Given the description of an element on the screen output the (x, y) to click on. 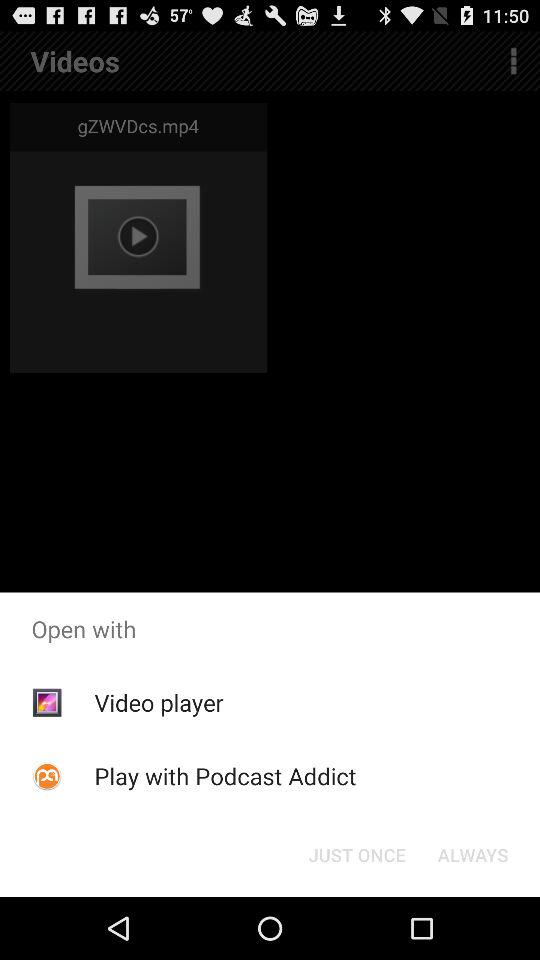
select the button to the left of the always button (356, 854)
